Given the description of an element on the screen output the (x, y) to click on. 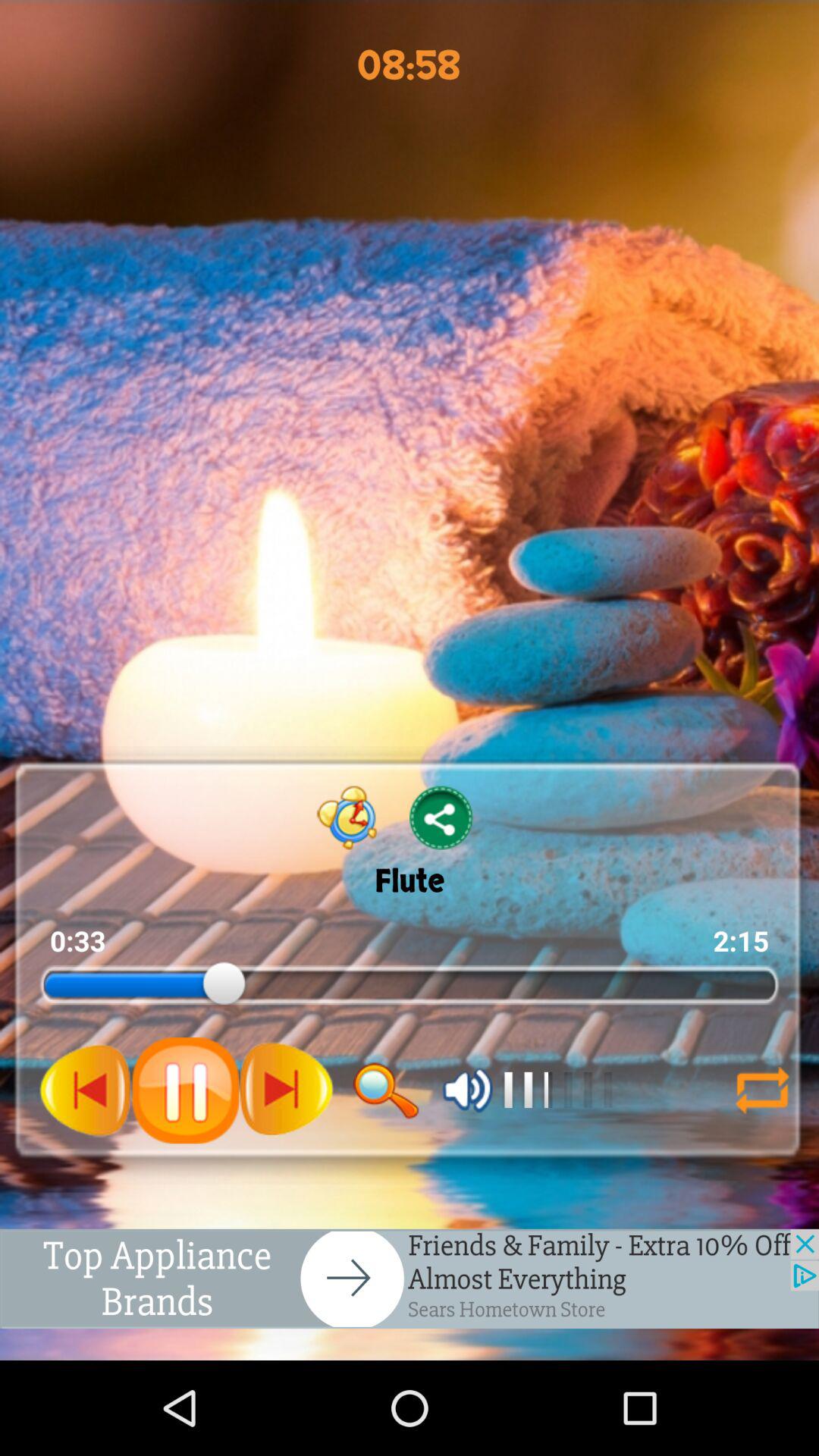
tap to share (441, 817)
